Given the description of an element on the screen output the (x, y) to click on. 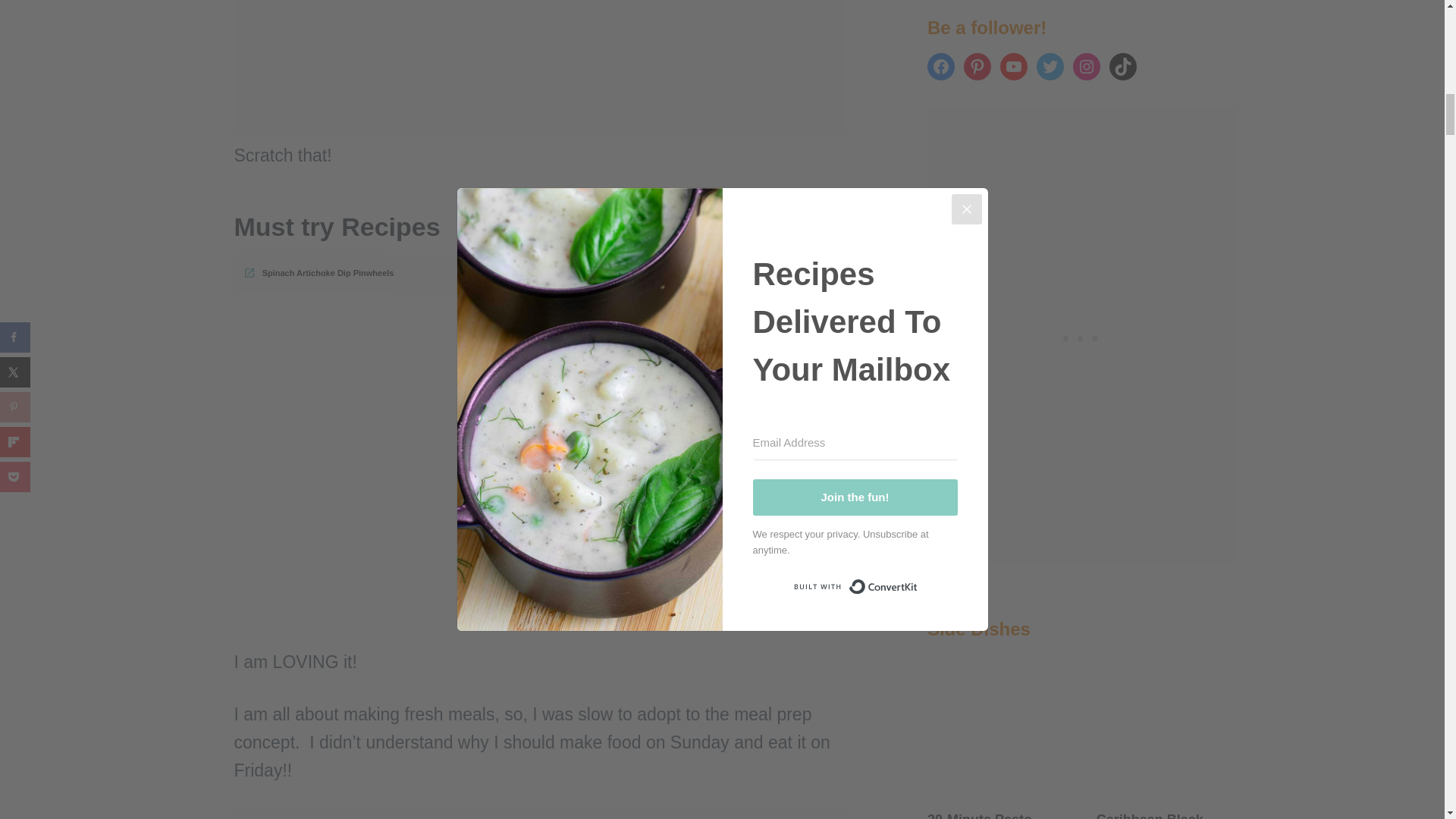
  Spinach Artichoke Dip Pinwheels (318, 272)
